Given the description of an element on the screen output the (x, y) to click on. 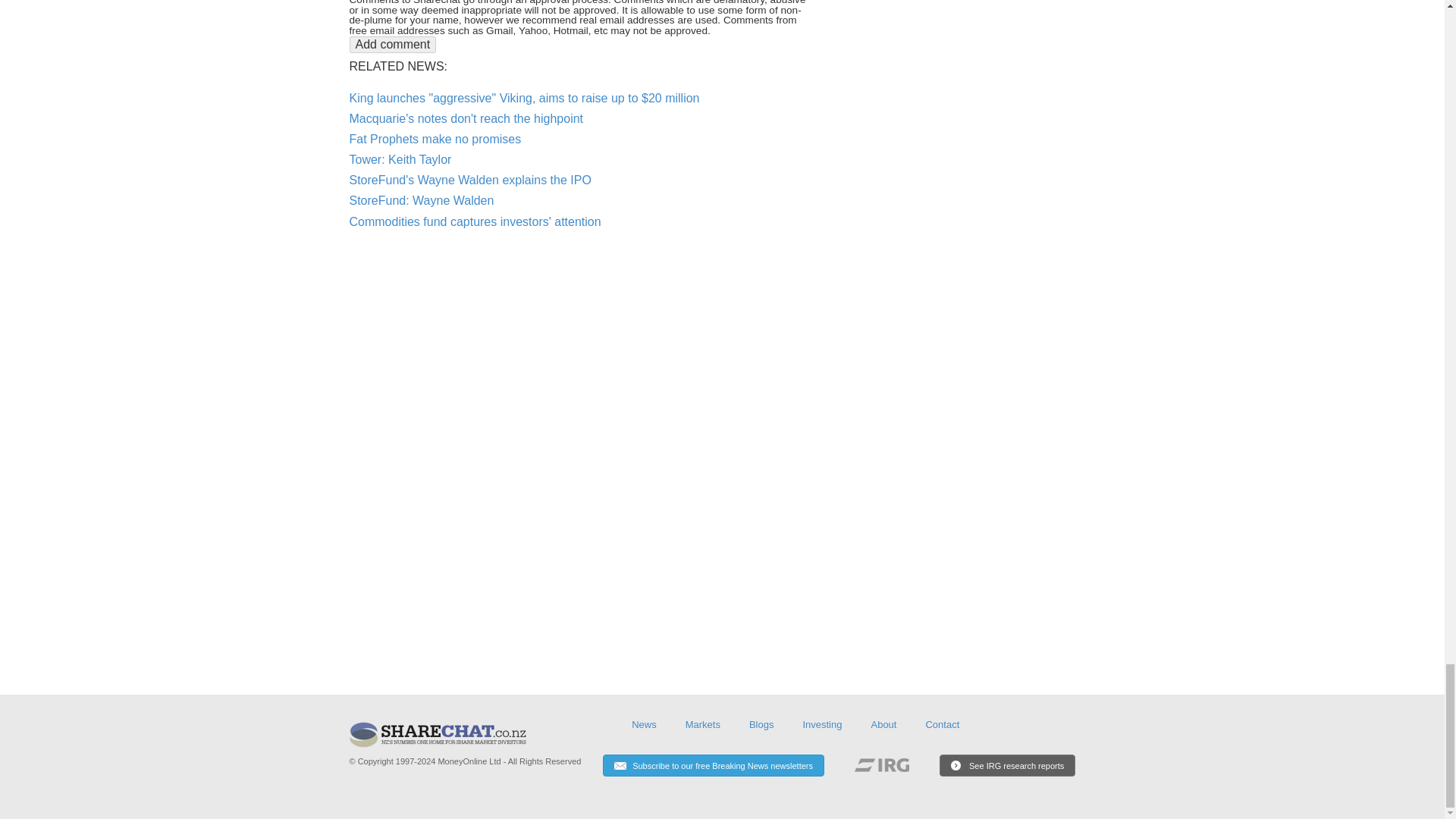
Add comment (392, 44)
